Given the description of an element on the screen output the (x, y) to click on. 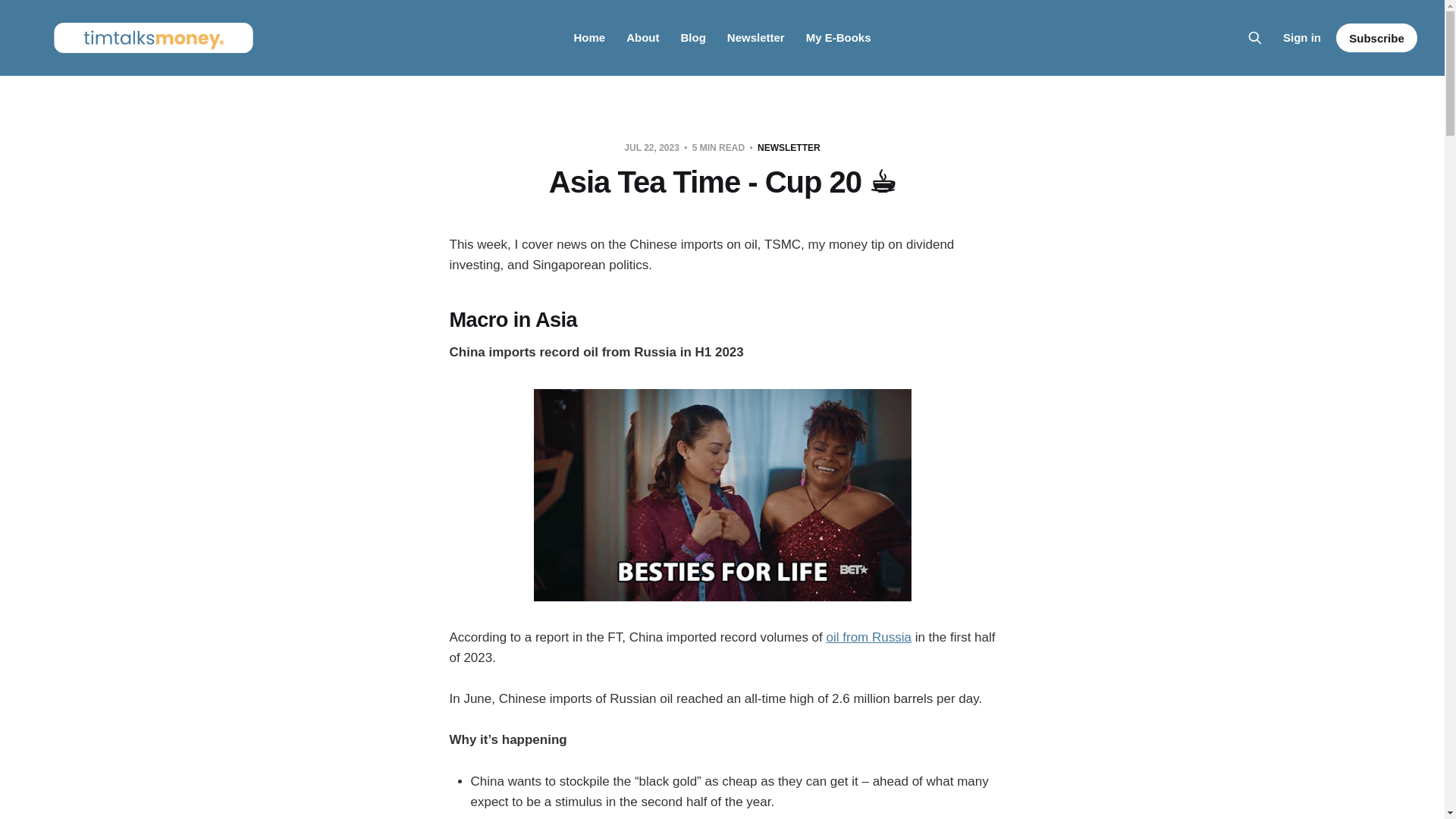
About (642, 37)
NEWSLETTER (789, 147)
My E-Books (838, 37)
Blog (691, 37)
Home (589, 37)
oil from Russia (869, 636)
Sign in (1301, 37)
Newsletter (755, 37)
Subscribe (1376, 37)
